Given the description of an element on the screen output the (x, y) to click on. 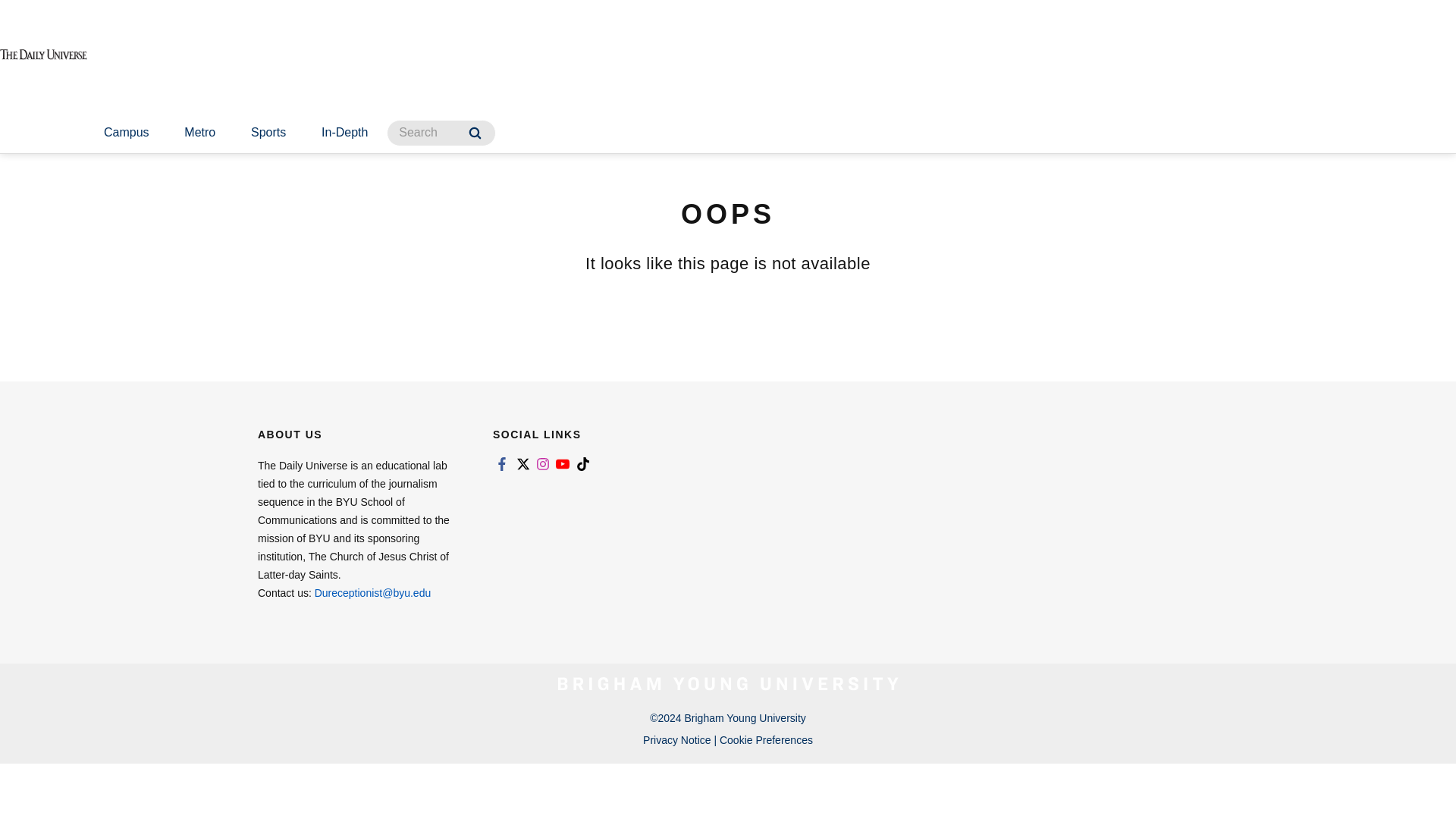
Campus (126, 133)
In-Depth (344, 133)
Link to twitter (522, 463)
Link to youtube (562, 463)
Search (474, 132)
Cookie Preferences (765, 739)
Link to facebook (502, 463)
Privacy Notice (676, 739)
Sports (268, 133)
Link to tiktok (582, 463)
